Given the description of an element on the screen output the (x, y) to click on. 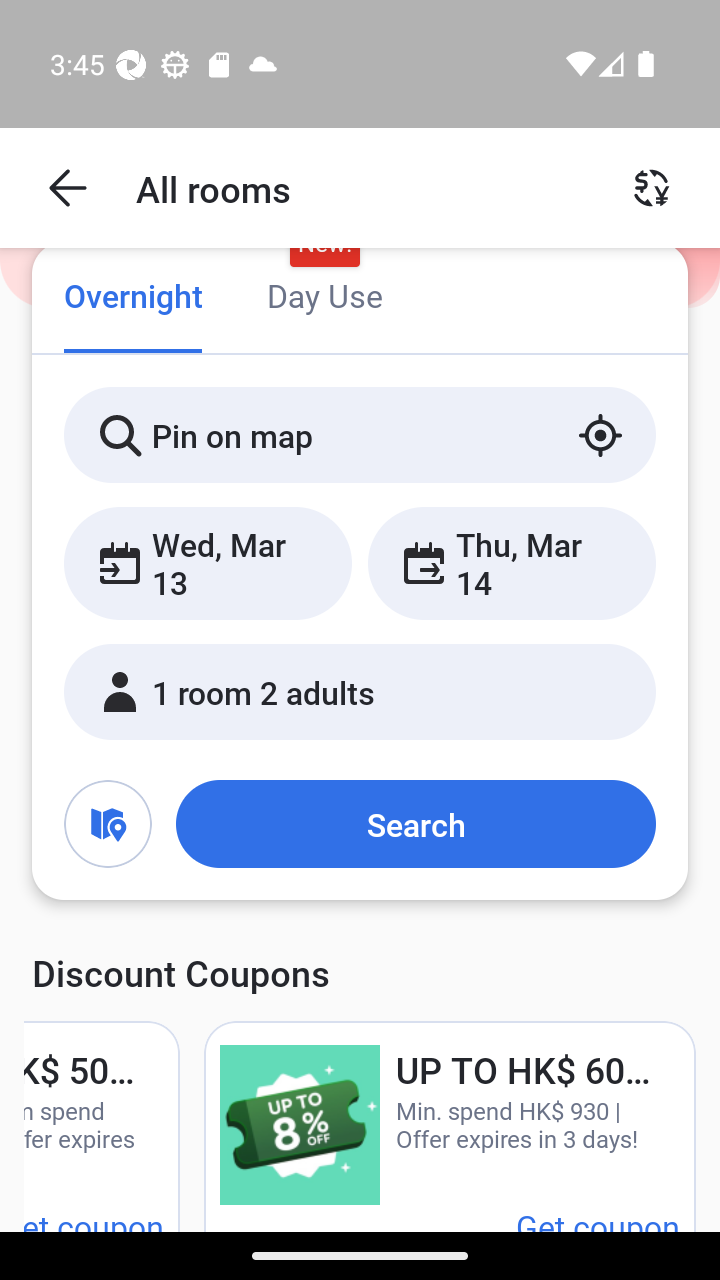
Day Use (324, 298)
Pin on map (359, 434)
Wed, Mar 13 (208, 562)
Thu, Mar 14 (511, 562)
1 room 2 adults (359, 691)
Search (415, 823)
